Given the description of an element on the screen output the (x, y) to click on. 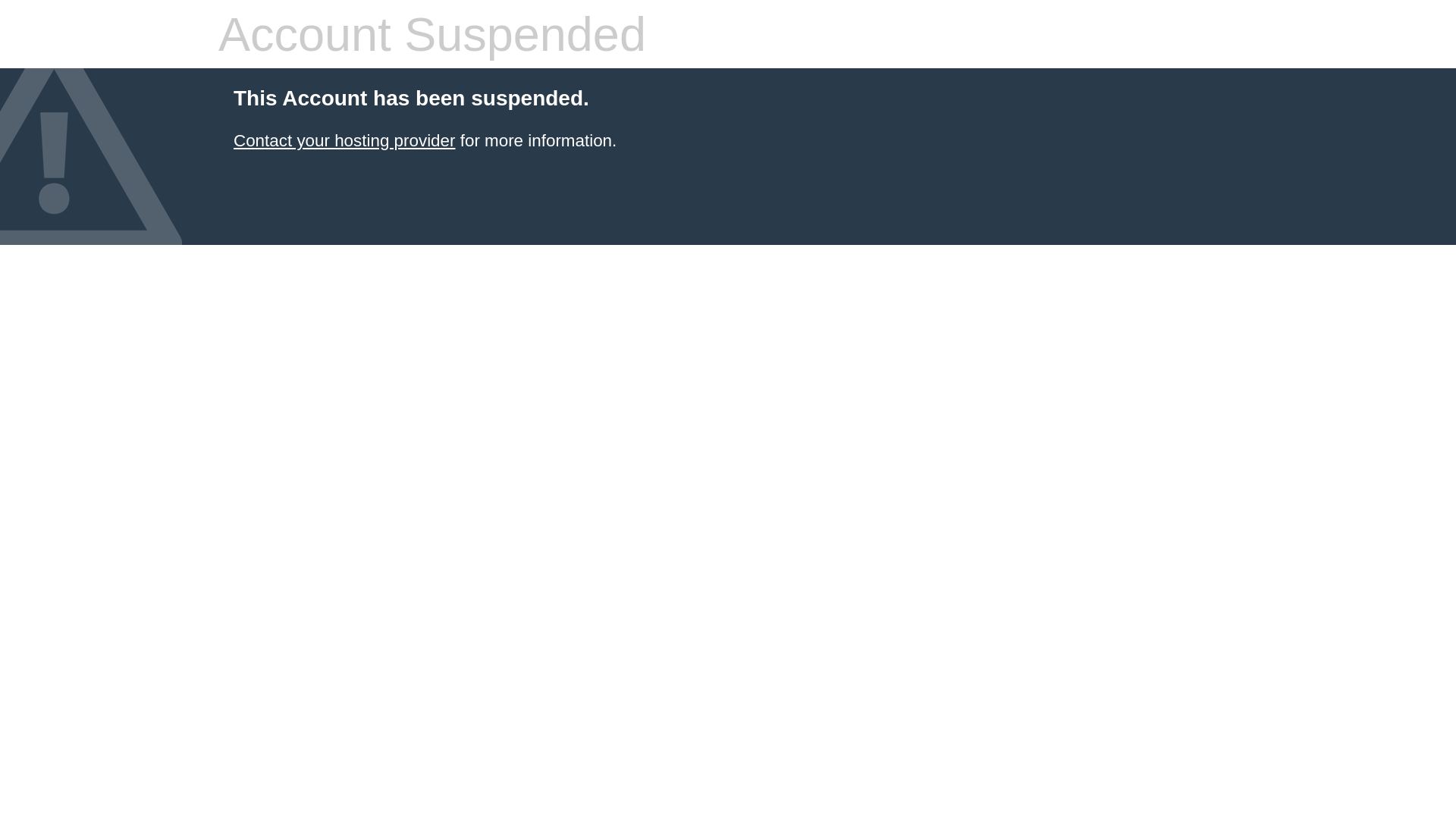
Contact your hosting provider Element type: text (344, 140)
